Given the description of an element on the screen output the (x, y) to click on. 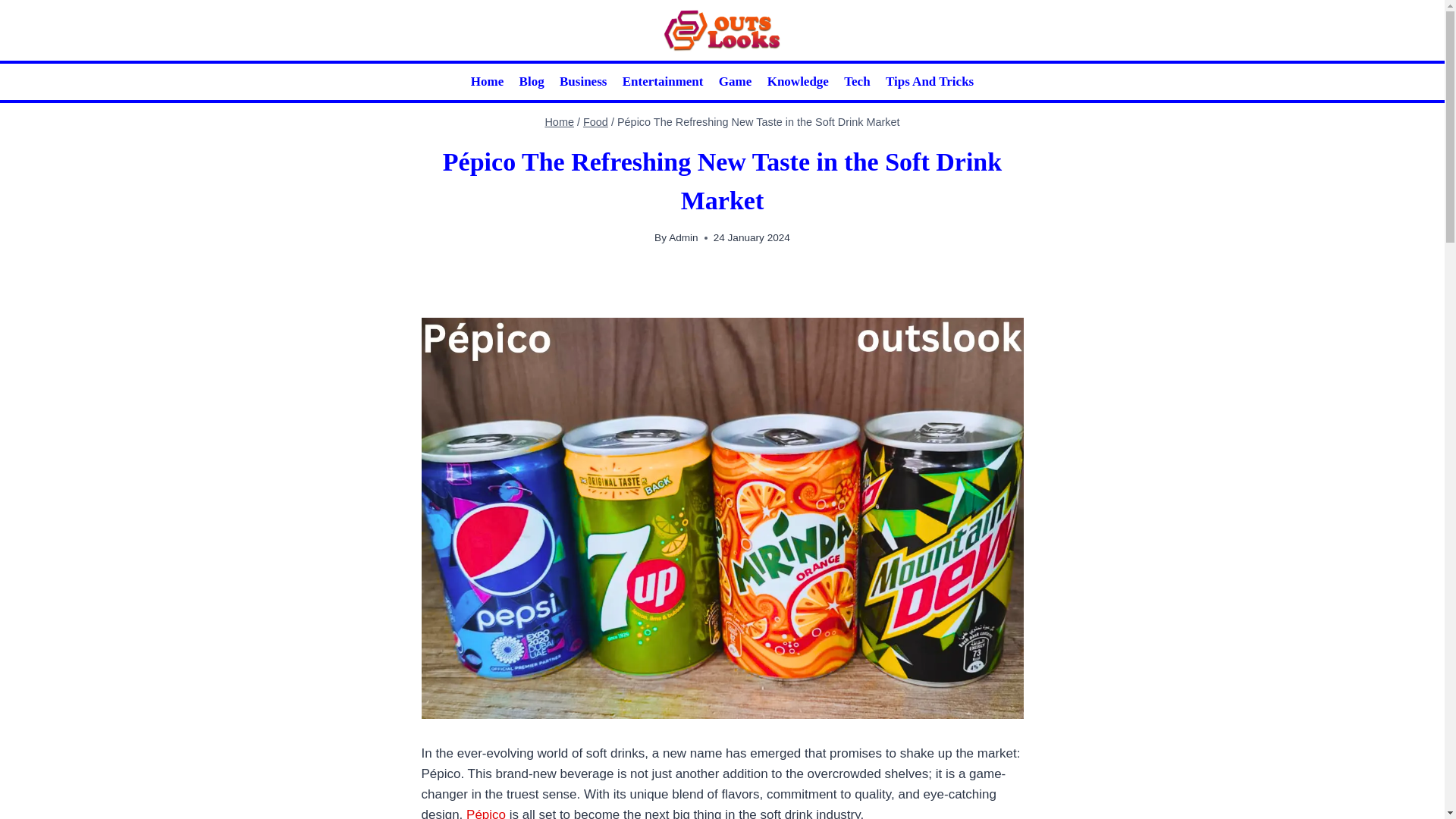
Food (595, 121)
Home (558, 121)
Entertainment (662, 81)
Tech (856, 81)
Business (582, 81)
Blog (531, 81)
Knowledge (796, 81)
Tips And Tricks (929, 81)
Game (735, 81)
Admin (683, 237)
